Given the description of an element on the screen output the (x, y) to click on. 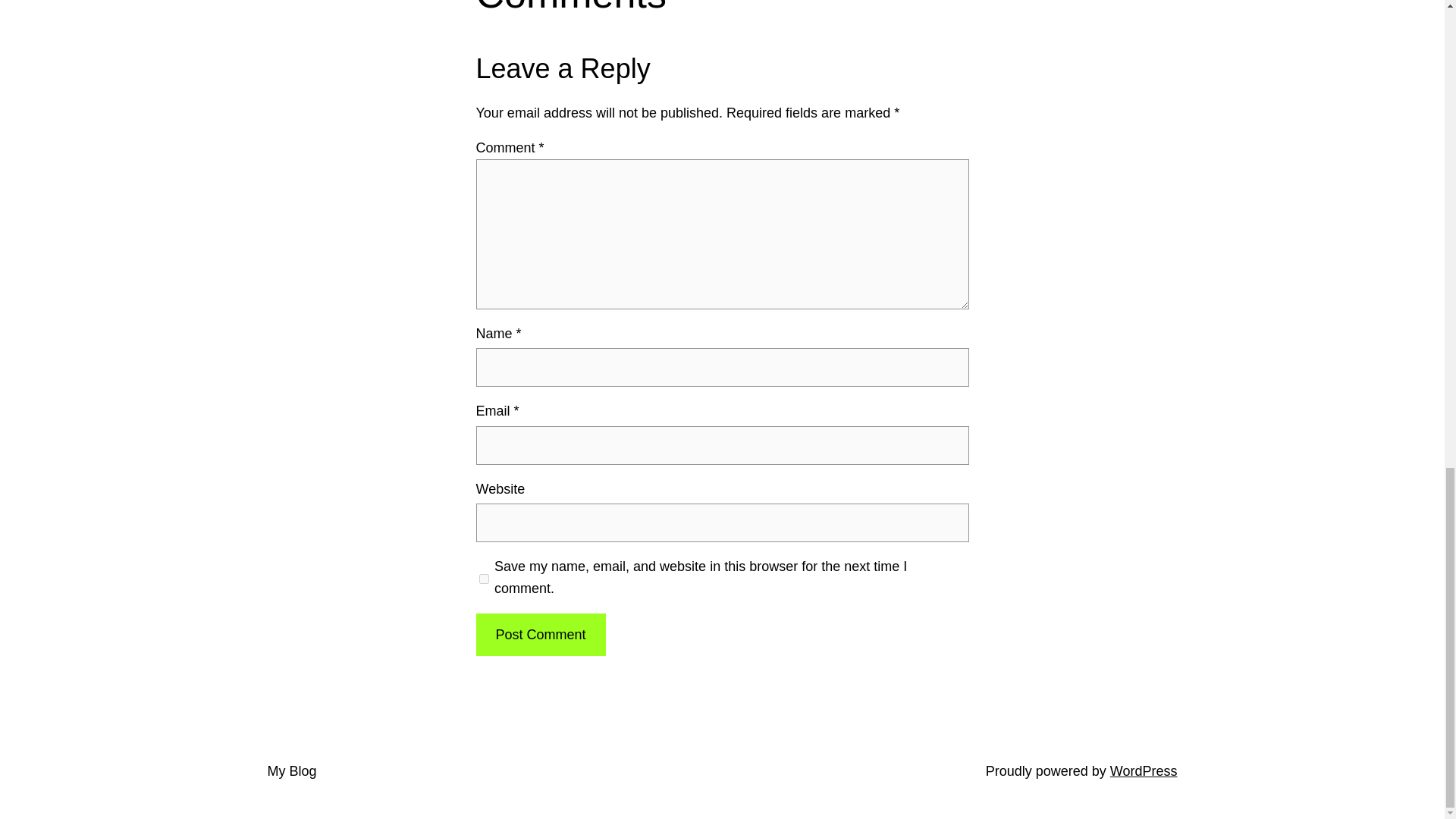
WordPress (1143, 770)
Post Comment (540, 634)
Post Comment (540, 634)
My Blog (290, 770)
